Given the description of an element on the screen output the (x, y) to click on. 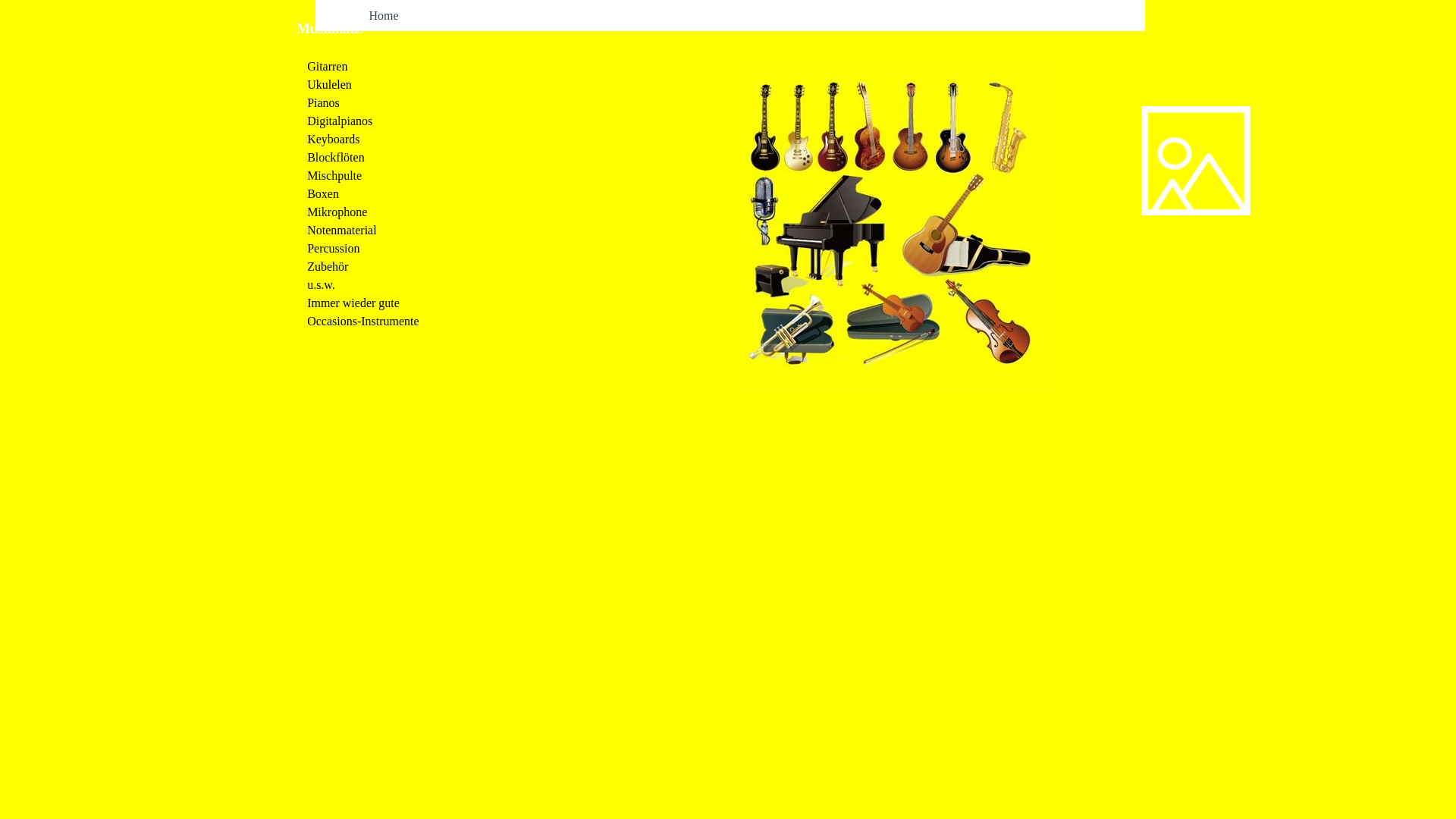
Home Element type: text (383, 15)
